Given the description of an element on the screen output the (x, y) to click on. 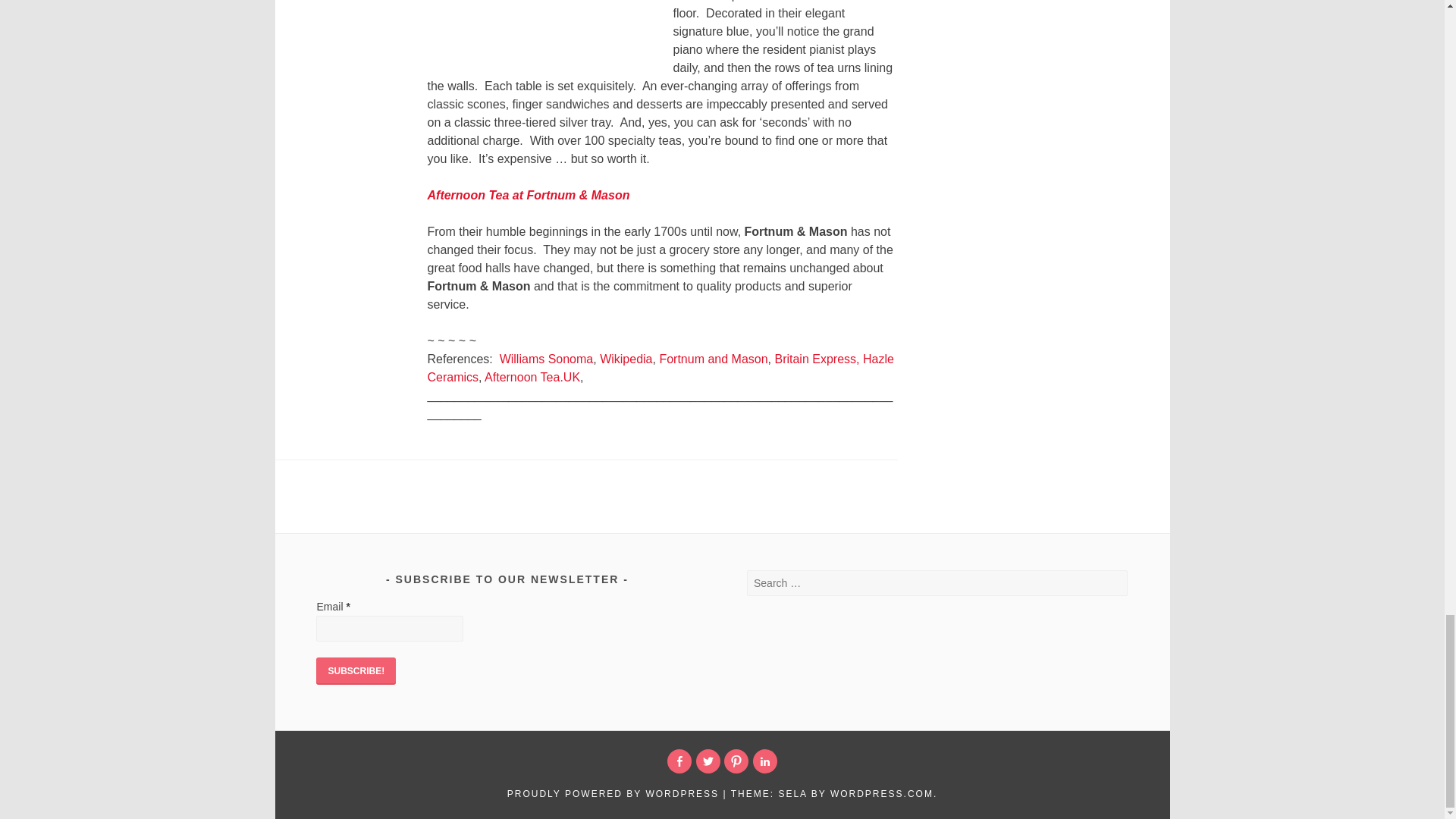
Email (389, 628)
Hazle Ceramics (660, 368)
Britain Express, (816, 358)
Wikipedia (625, 358)
Williams Sonoma (546, 358)
Afternoon Tea.UK (531, 377)
Fortnum and Mason (713, 358)
Subscribe! (355, 670)
A Semantic Personal Publishing Platform (612, 793)
